Given the description of an element on the screen output the (x, y) to click on. 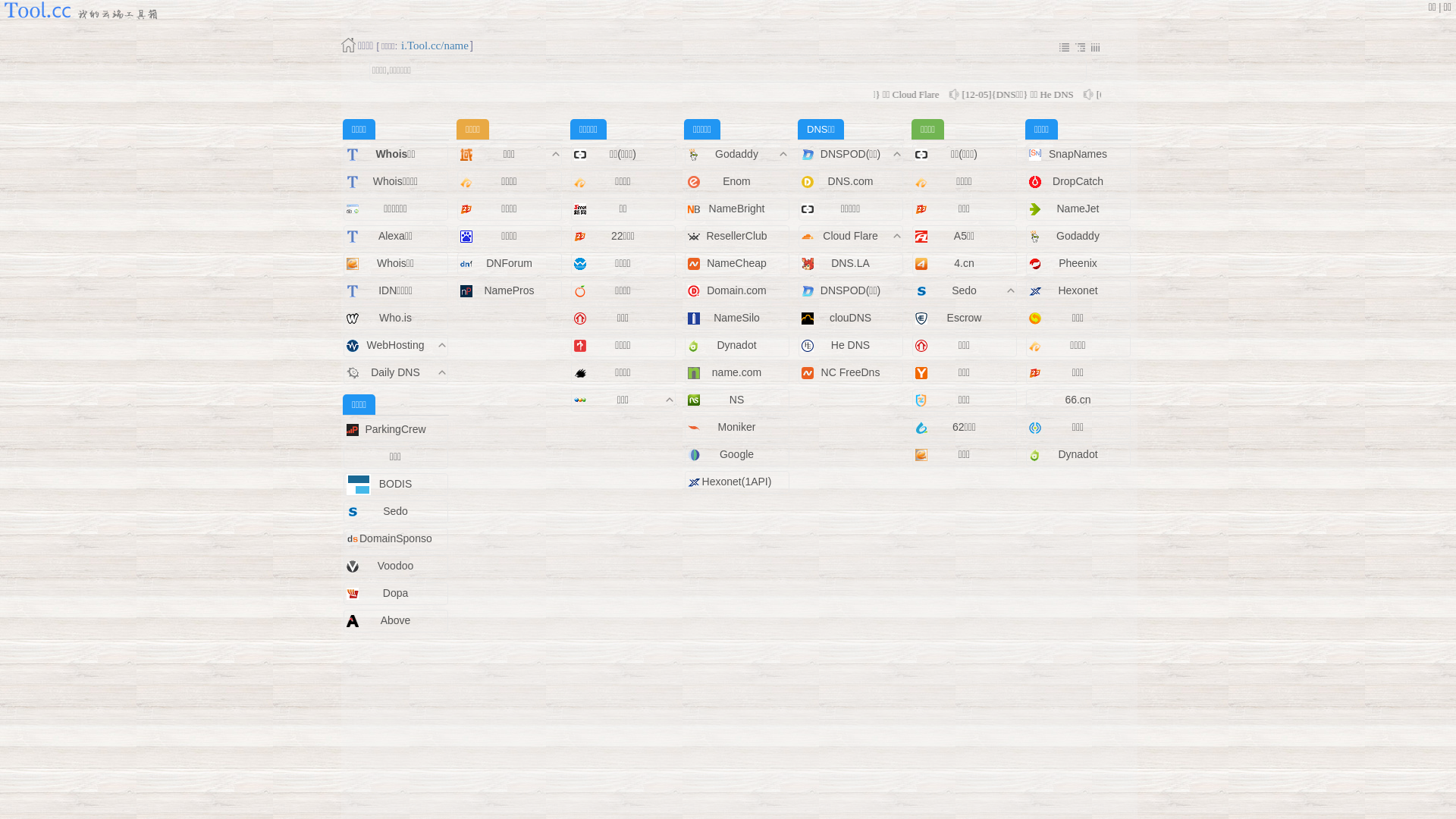
NC FreeDns Element type: text (850, 372)
Sedo Element type: text (394, 511)
Hexonet Element type: text (1077, 290)
name.com Element type: text (736, 372)
DomainSponsor Element type: text (397, 538)
Hexonet(1API) Element type: text (736, 481)
NamePros Element type: text (508, 290)
NameSilo Element type: text (736, 317)
NameCheap Element type: text (736, 263)
Dynadot Element type: text (736, 344)
Domain.com Element type: text (736, 290)
Pheenix Element type: text (1077, 263)
4.cn Element type: text (963, 263)
DNS.LA Element type: text (850, 263)
Dopa Element type: text (394, 592)
Moniker Element type: text (737, 426)
Who.is Element type: text (395, 317)
Godaddy Element type: text (736, 153)
DNForum Element type: text (509, 263)
He DNS Element type: text (850, 344)
ParkingCrew Element type: text (394, 429)
DNS.com Element type: text (850, 181)
Voodoo Element type: text (395, 565)
66.cn Element type: text (1077, 399)
DropCatch Element type: text (1077, 181)
Daily DNS Changes Element type: text (395, 382)
clouDNS Element type: text (850, 317)
Cloud Flare Element type: text (849, 235)
Google Element type: text (736, 454)
Enom Element type: text (736, 181)
ResellerClub Element type: text (736, 235)
NS Element type: text (736, 399)
WebHosting Element type: text (394, 344)
Godaddy Element type: text (1077, 235)
Dynadot Element type: text (1077, 454)
NameBright Element type: text (737, 208)
BODIS Element type: text (395, 483)
Sedo Element type: text (963, 290)
Escrow Element type: text (964, 317)
SnapNames Element type: text (1077, 153)
i.Tool.cc/name Element type: text (434, 45)
Above Element type: text (395, 620)
NameJet Element type: text (1077, 208)
